Given the description of an element on the screen output the (x, y) to click on. 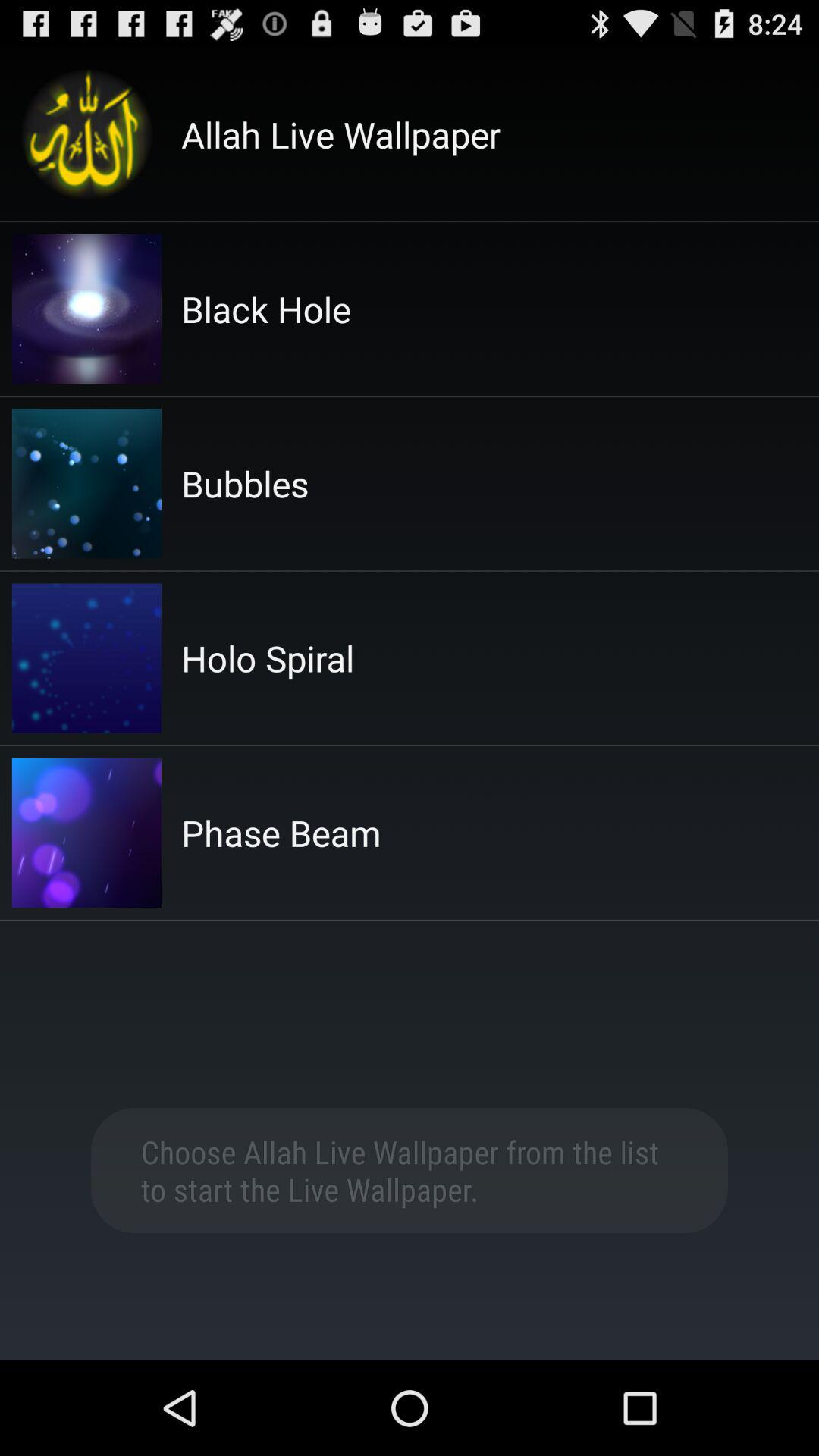
press the icon at the center (281, 832)
